Given the description of an element on the screen output the (x, y) to click on. 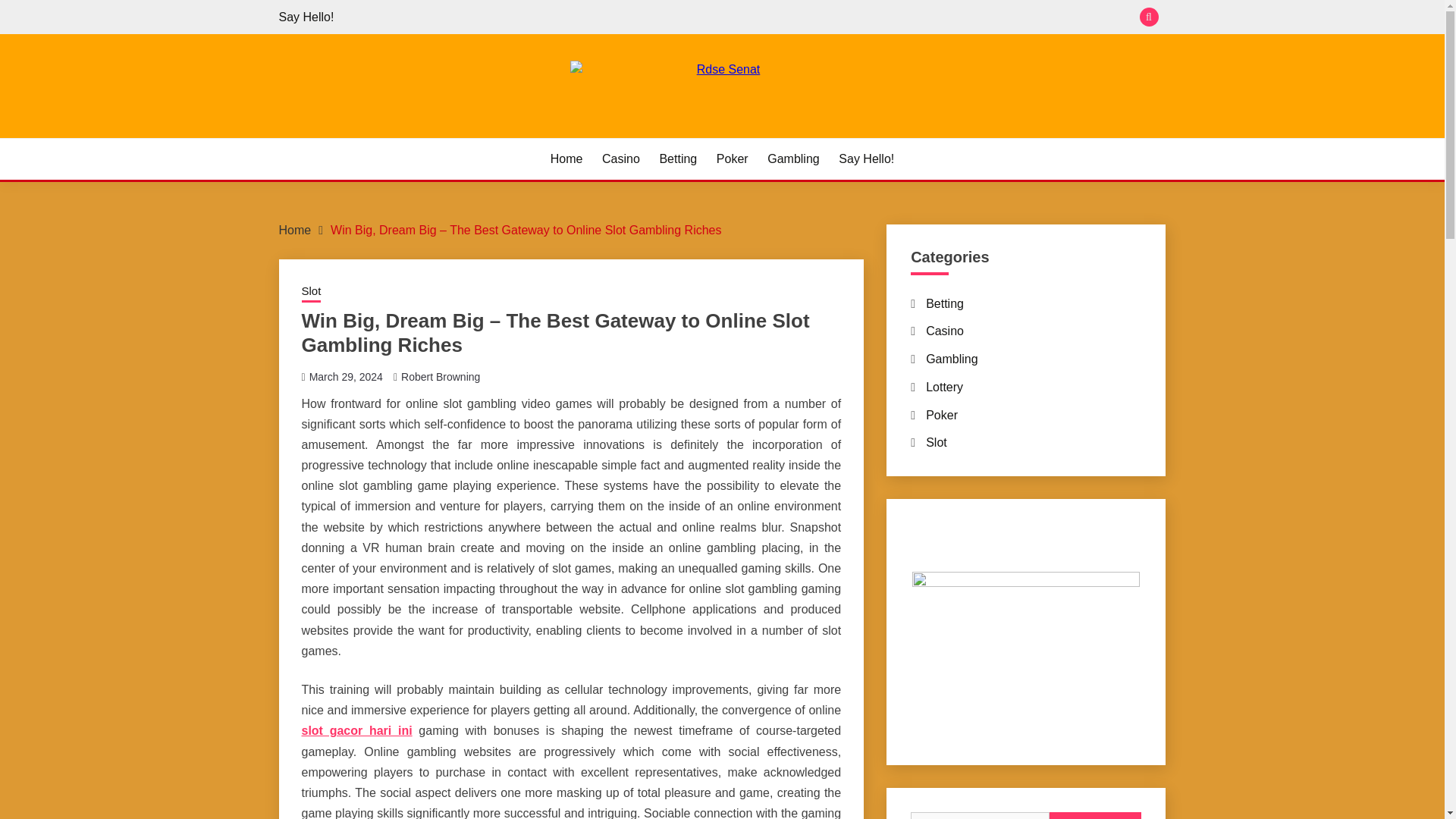
Search (1095, 815)
Home (566, 158)
slot gacor hari ini (356, 730)
Search (1095, 815)
Say Hello! (306, 16)
Home (295, 229)
Betting (944, 303)
Search (832, 18)
Slot (936, 441)
Slot (311, 292)
Gambling (792, 158)
Robert Browning (440, 376)
Lottery (944, 386)
Gambling (951, 358)
Say Hello! (865, 158)
